Given the description of an element on the screen output the (x, y) to click on. 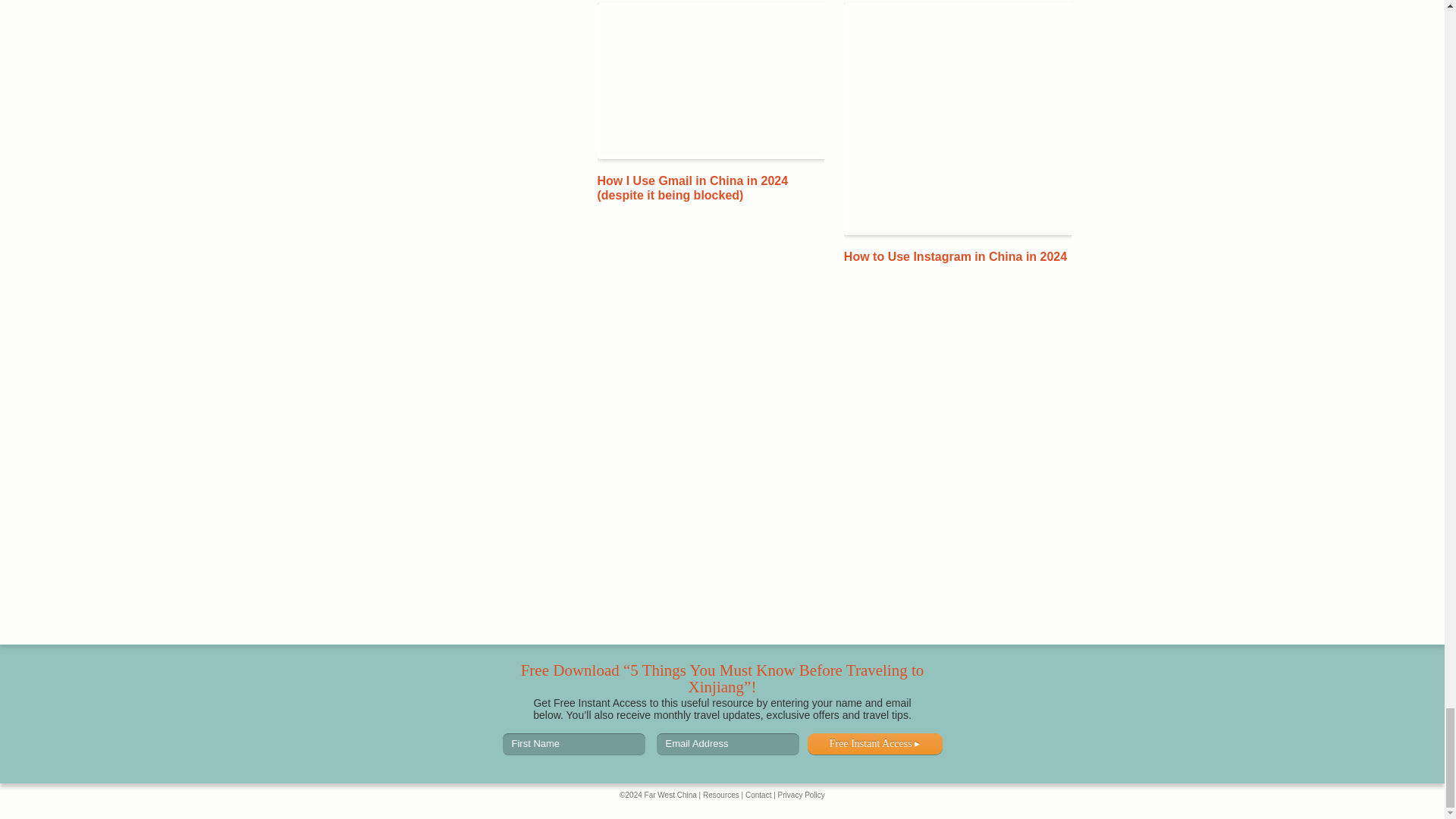
First Name (573, 744)
Email Address (727, 744)
